Given the description of an element on the screen output the (x, y) to click on. 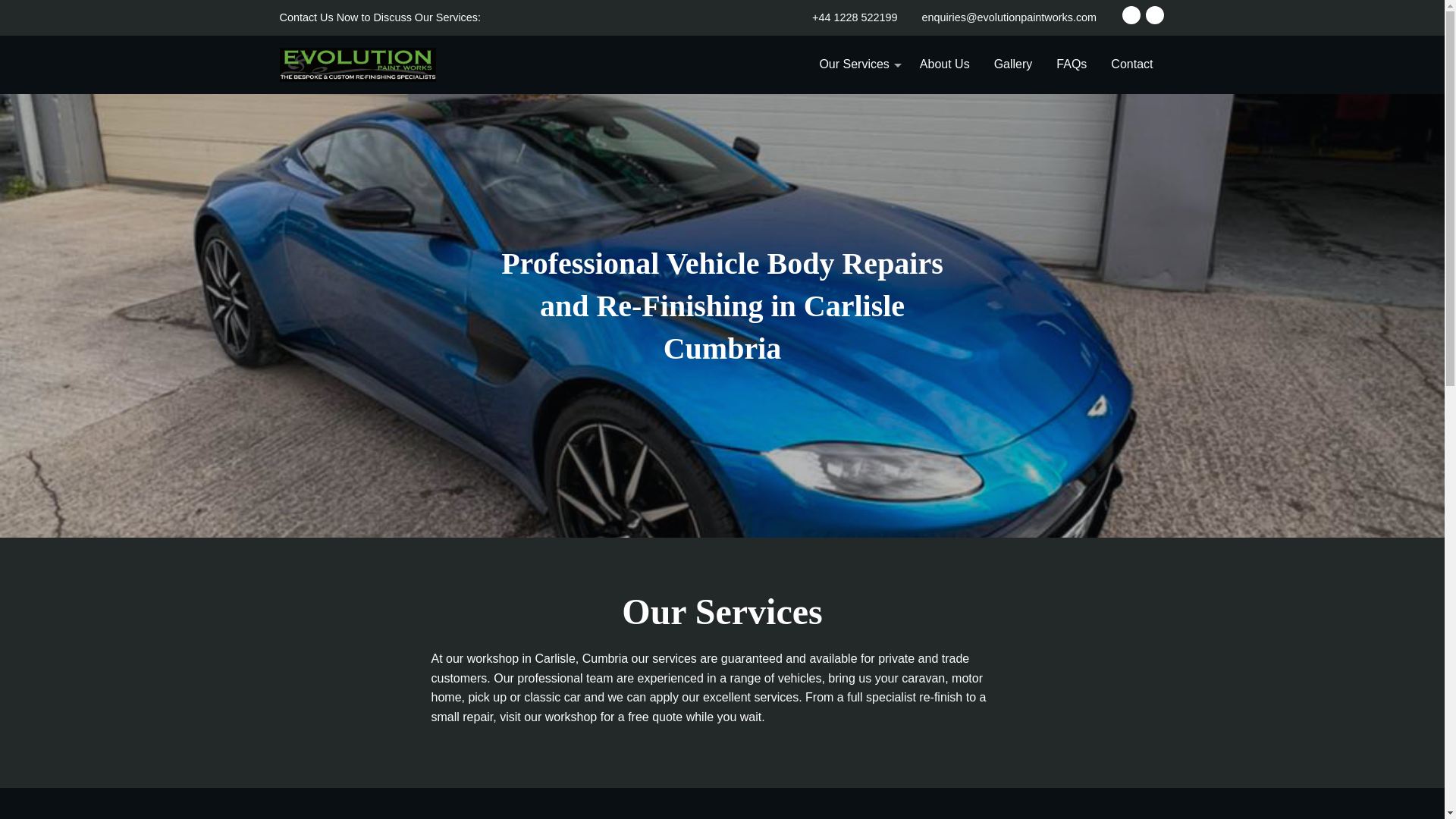
About Us (944, 64)
FAQs (1071, 64)
Gallery (1013, 64)
Our Services (856, 64)
Contact (1131, 64)
